Given the description of an element on the screen output the (x, y) to click on. 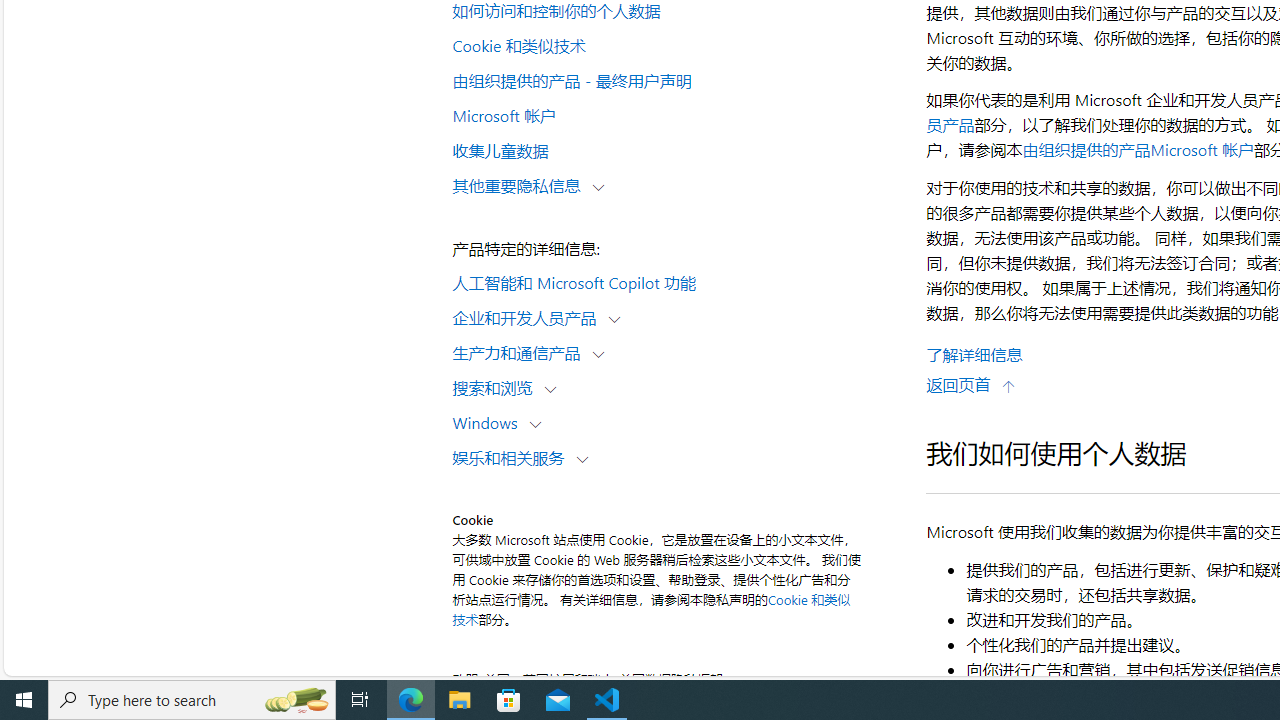
Windows (489, 421)
